Given the description of an element on the screen output the (x, y) to click on. 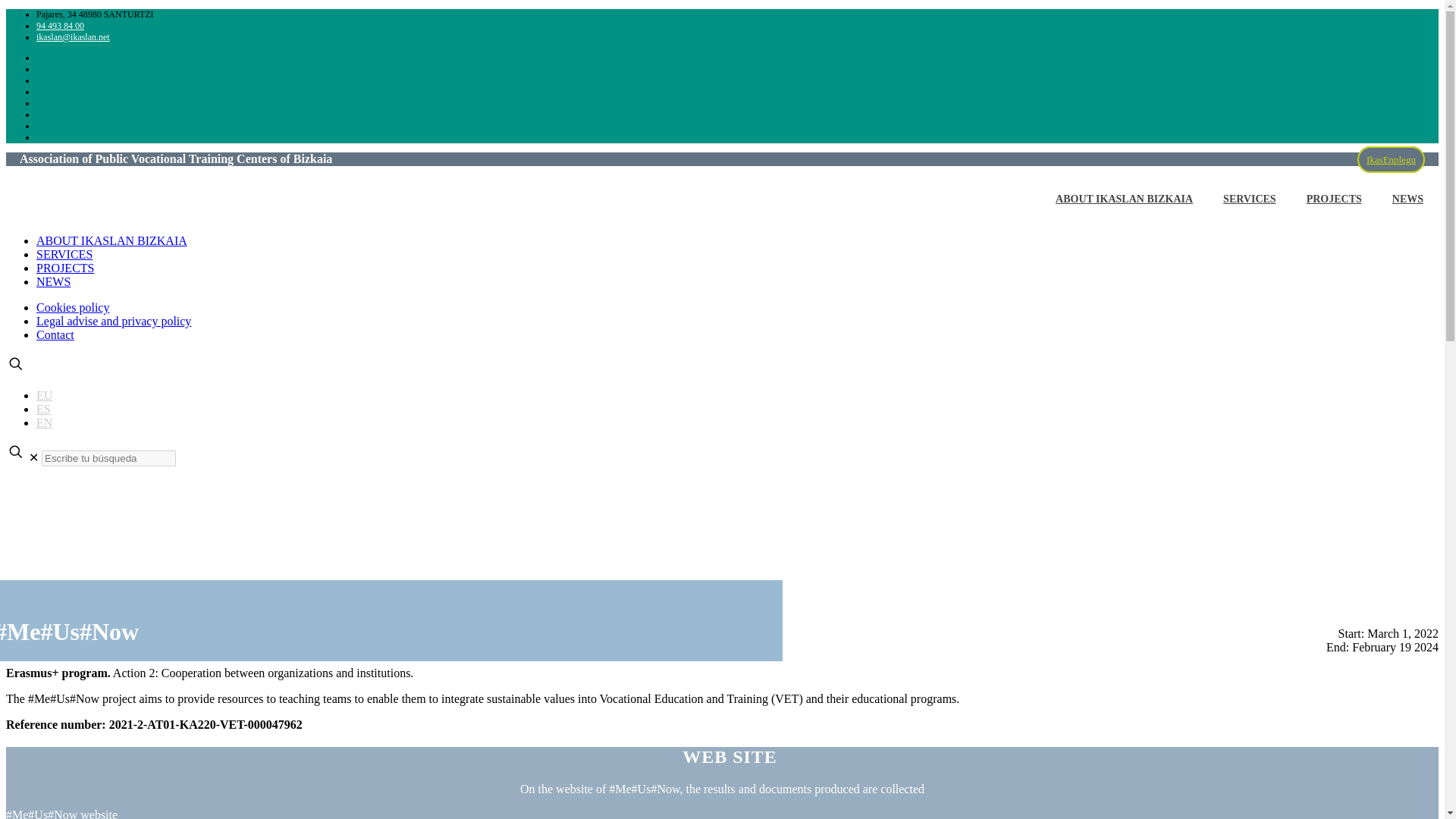
IkasEnplegu (1390, 159)
Contact (55, 334)
Legal advise and privacy policy (113, 320)
94 493 84 00 (60, 25)
ABOUT IKASLAN BIZKAIA (111, 240)
SERVICES (1249, 198)
PROJECTS (65, 267)
SERVICES (64, 254)
EN (44, 422)
PROJECTS (1334, 198)
